Given the description of an element on the screen output the (x, y) to click on. 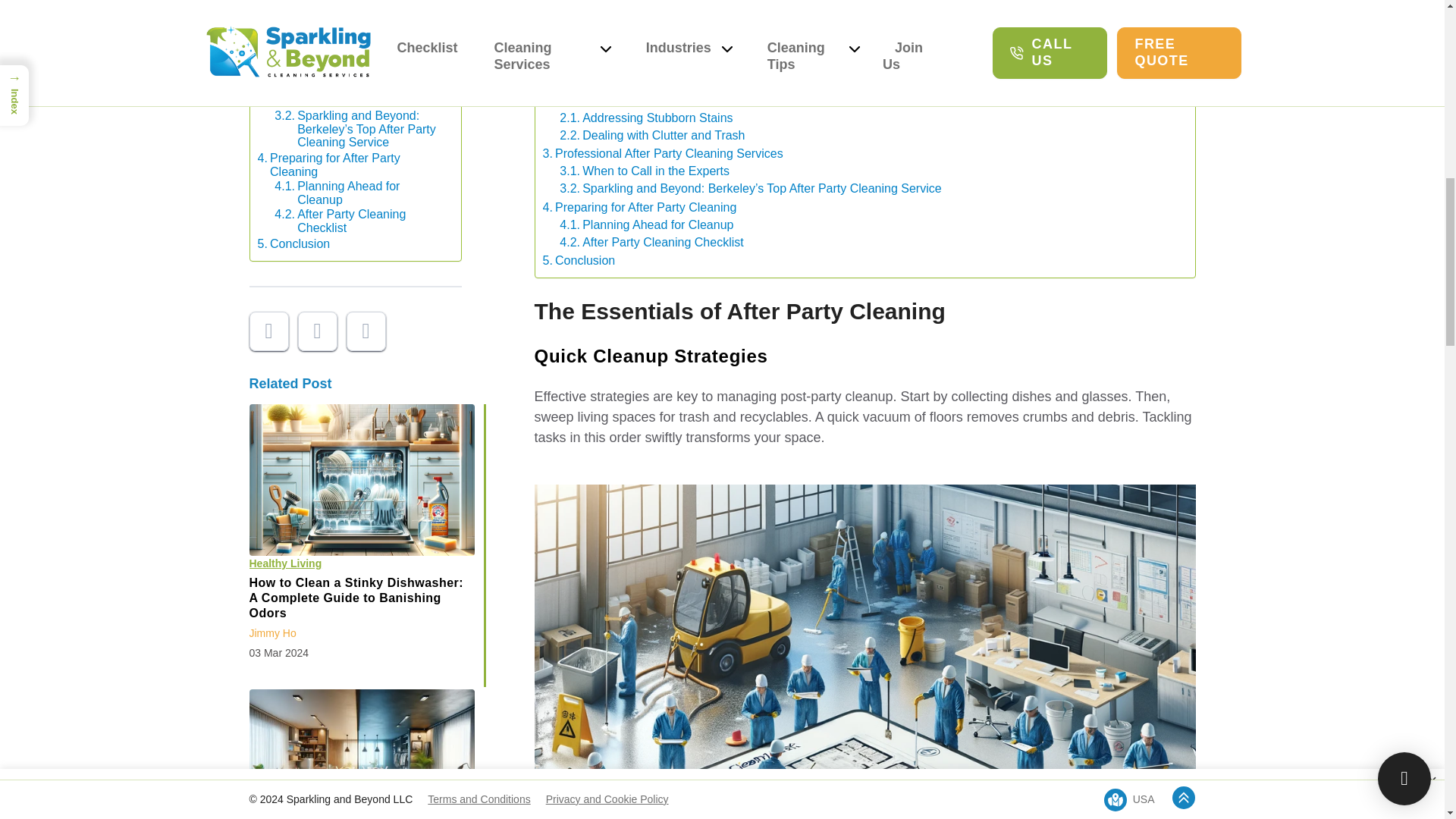
After Party Cleaning Checklist (360, 221)
Common After Party Cleaning Challenges (661, 99)
When to Call in the Experts (359, 98)
Addressing Stubborn Stains (360, 19)
Planning Ahead for Cleanup (360, 192)
Conclusion (293, 243)
The Essentials of After Party Cleaning (651, 46)
Preparing for After Party Cleaning (351, 164)
Addressing Stubborn Stains (645, 118)
DIY Cleaning Solutions (632, 81)
Common After Party Cleaning Challenges (351, 2)
Preparing for After Party Cleaning (351, 164)
Conclusion (293, 243)
Dealing with Clutter and Trash (651, 135)
Dealing with Clutter and Trash (360, 48)
